Given the description of an element on the screen output the (x, y) to click on. 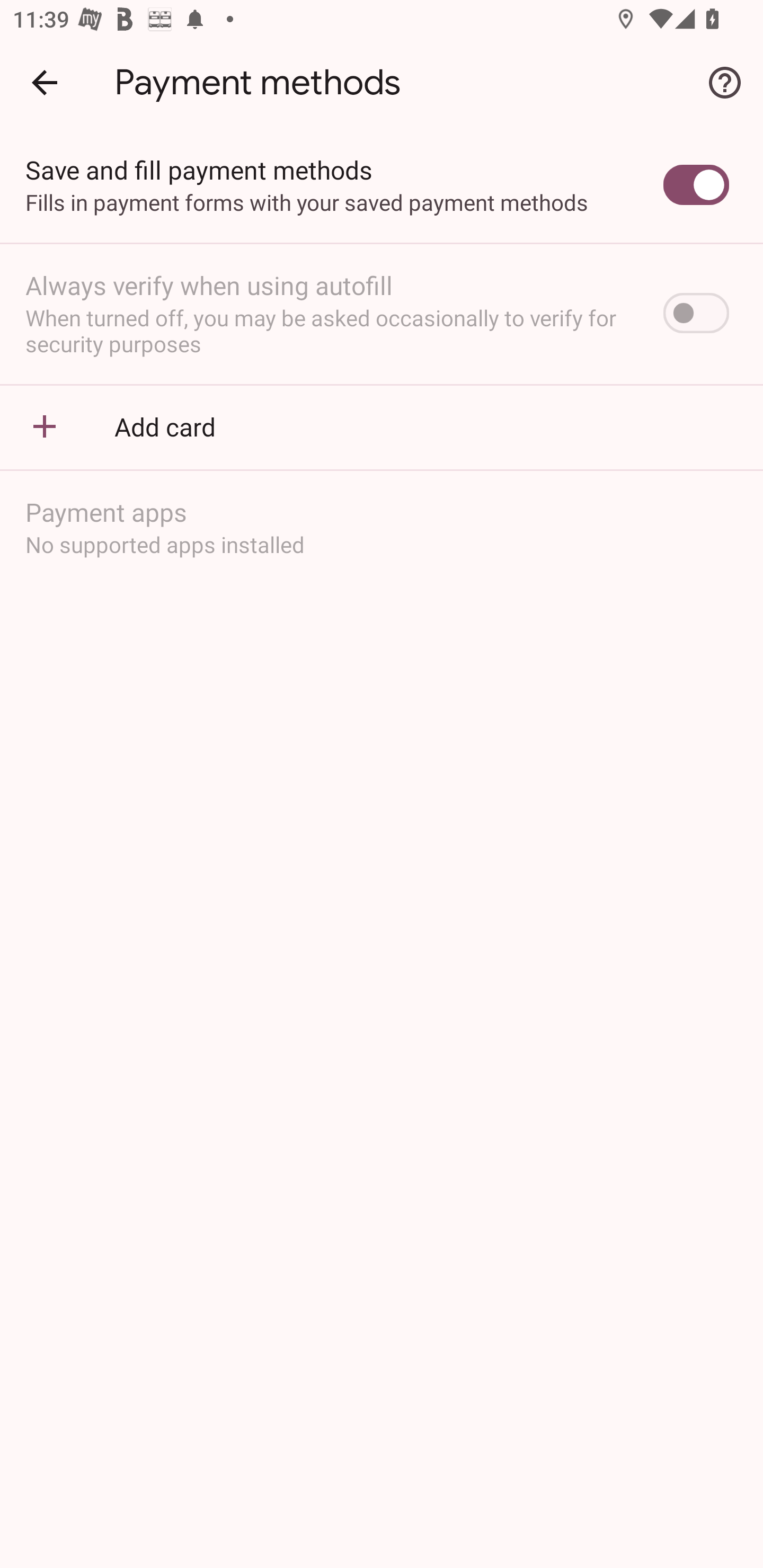
Navigate up (44, 82)
Help & feedback (724, 81)
Add card (381, 426)
Payment apps No supported apps installed (381, 526)
